Given the description of an element on the screen output the (x, y) to click on. 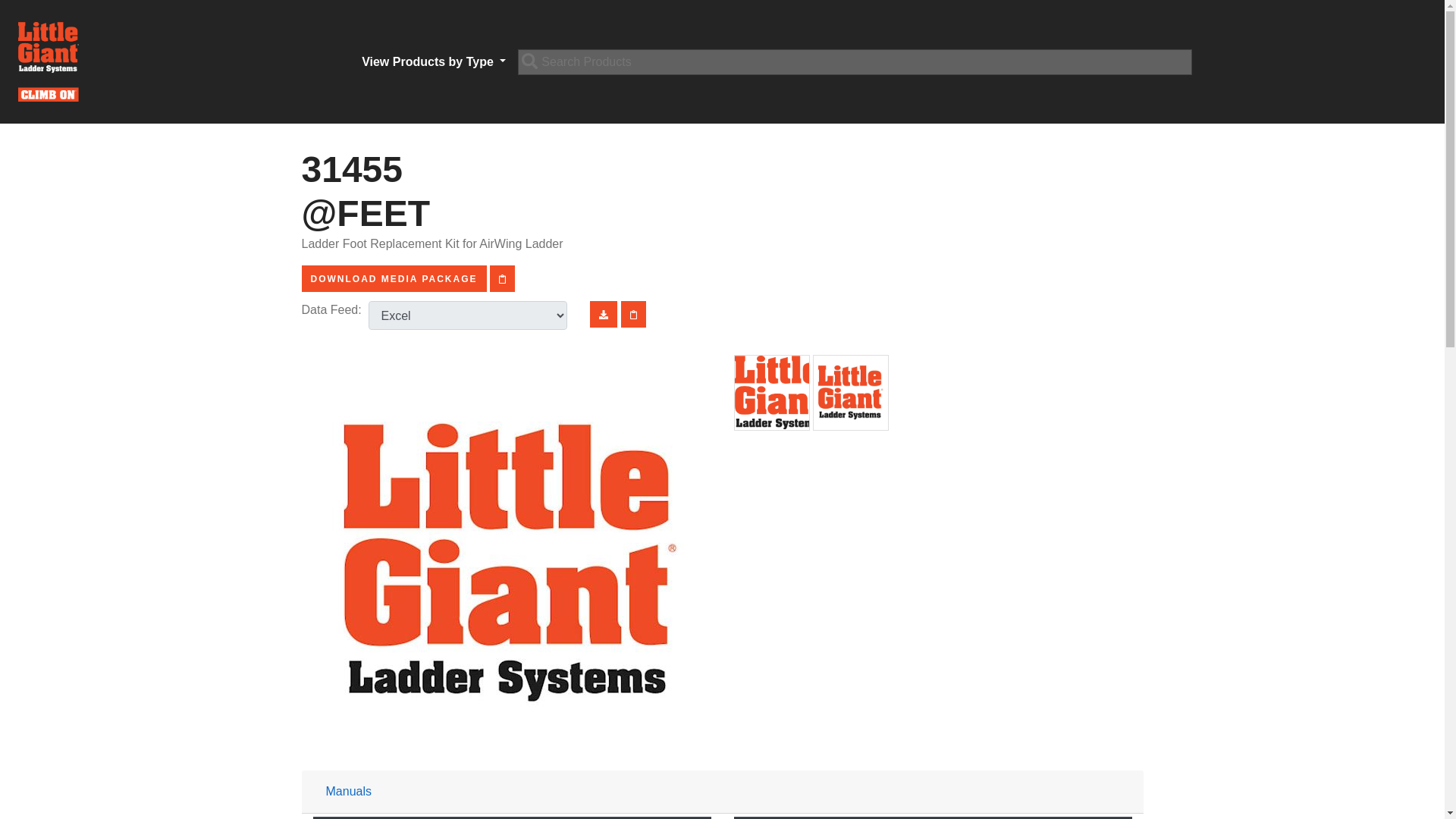
Download Data Feed (603, 314)
Manuals (348, 790)
View Products by Type (433, 61)
DOWNLOAD MEDIA PACKAGE (393, 278)
